Given the description of an element on the screen output the (x, y) to click on. 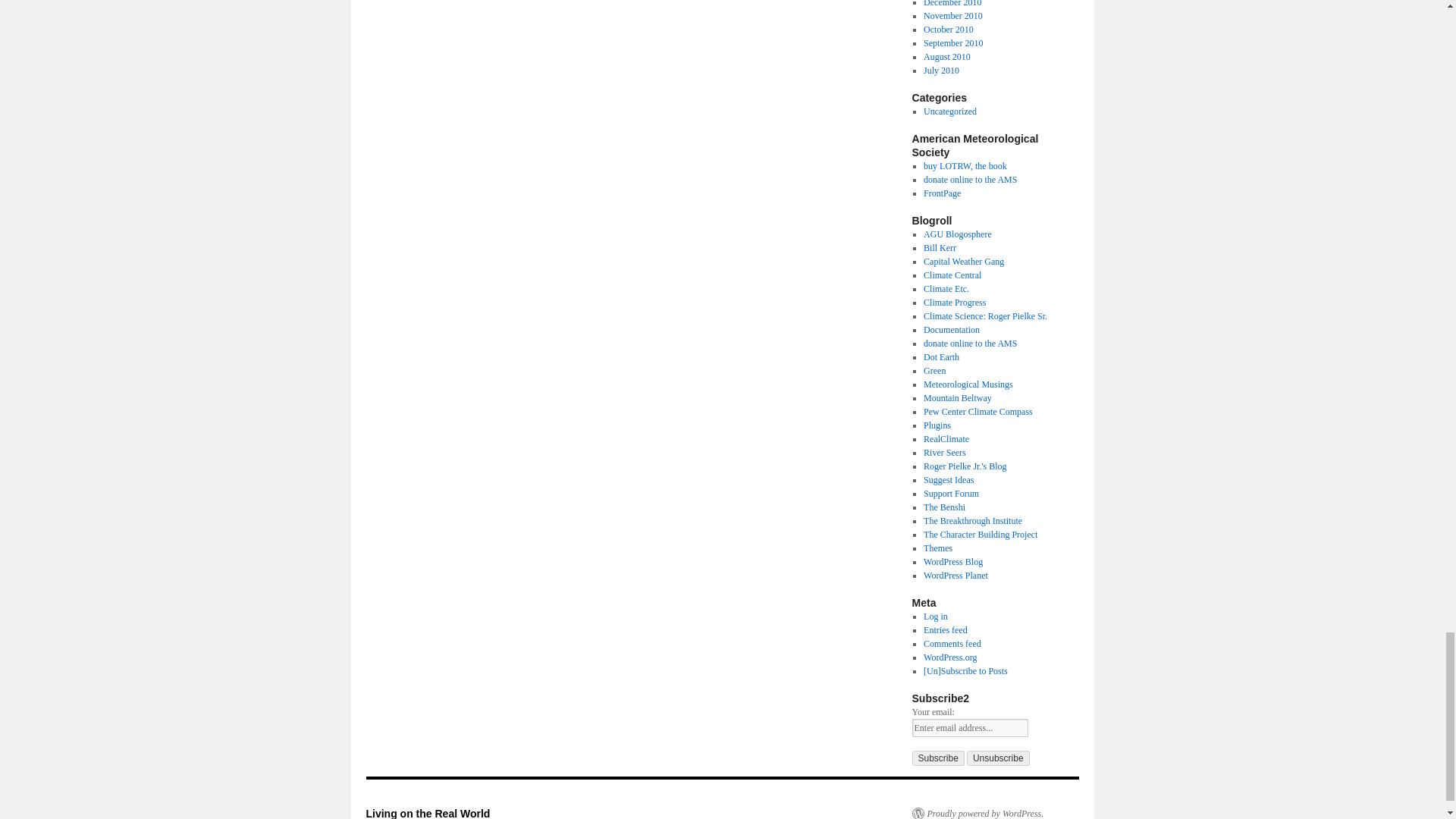
Enter email address... (969, 728)
Blog of the American Meteorological Society (941, 193)
Subscribe (937, 758)
support the work of the AMS Policy Program (969, 179)
Unsubscribe (997, 758)
support the work of the AMS Policy Program (969, 343)
